Given the description of an element on the screen output the (x, y) to click on. 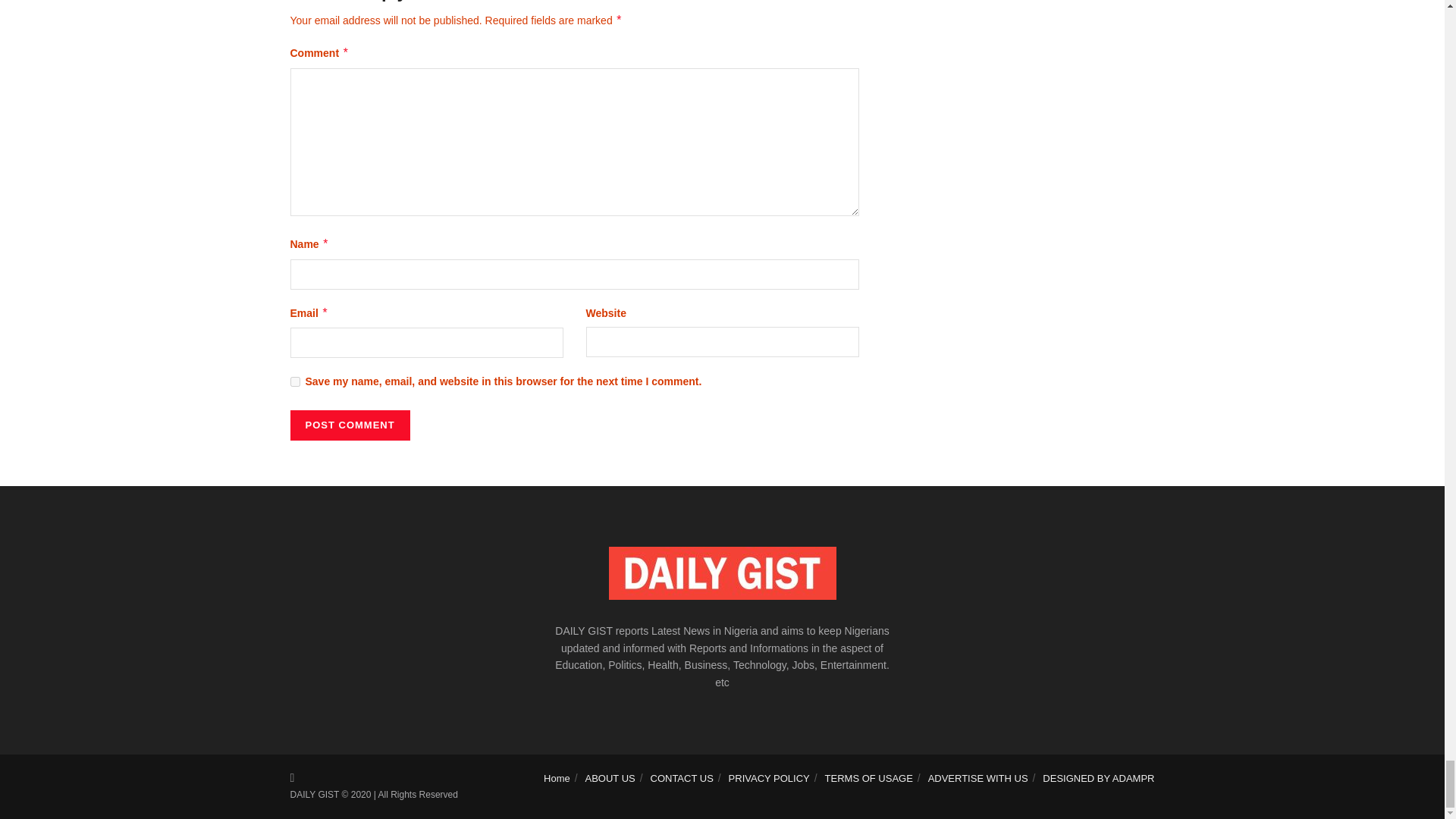
Post Comment (349, 425)
yes (294, 381)
